Given the description of an element on the screen output the (x, y) to click on. 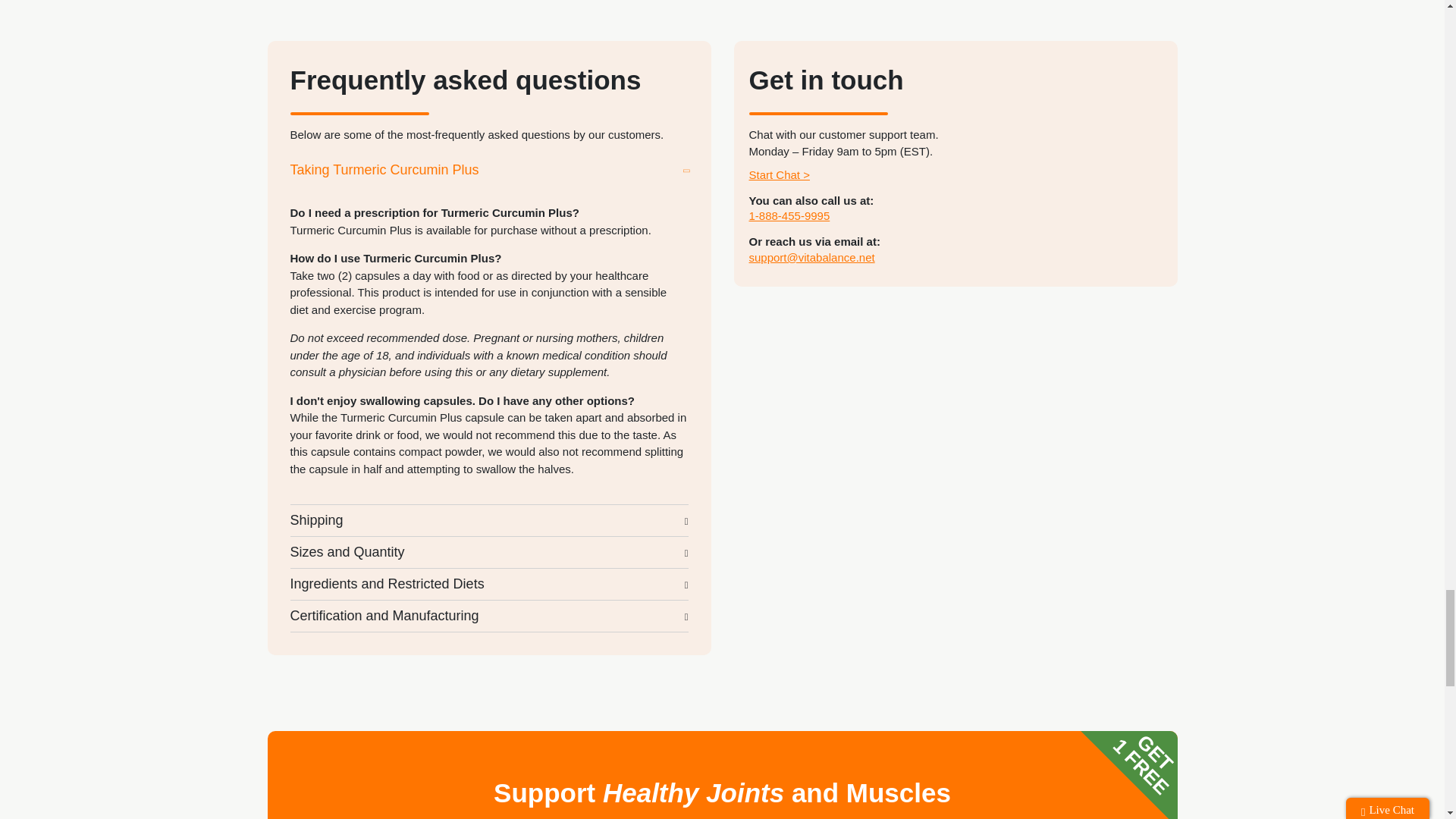
1-888-455-9995 (789, 215)
